Given the description of an element on the screen output the (x, y) to click on. 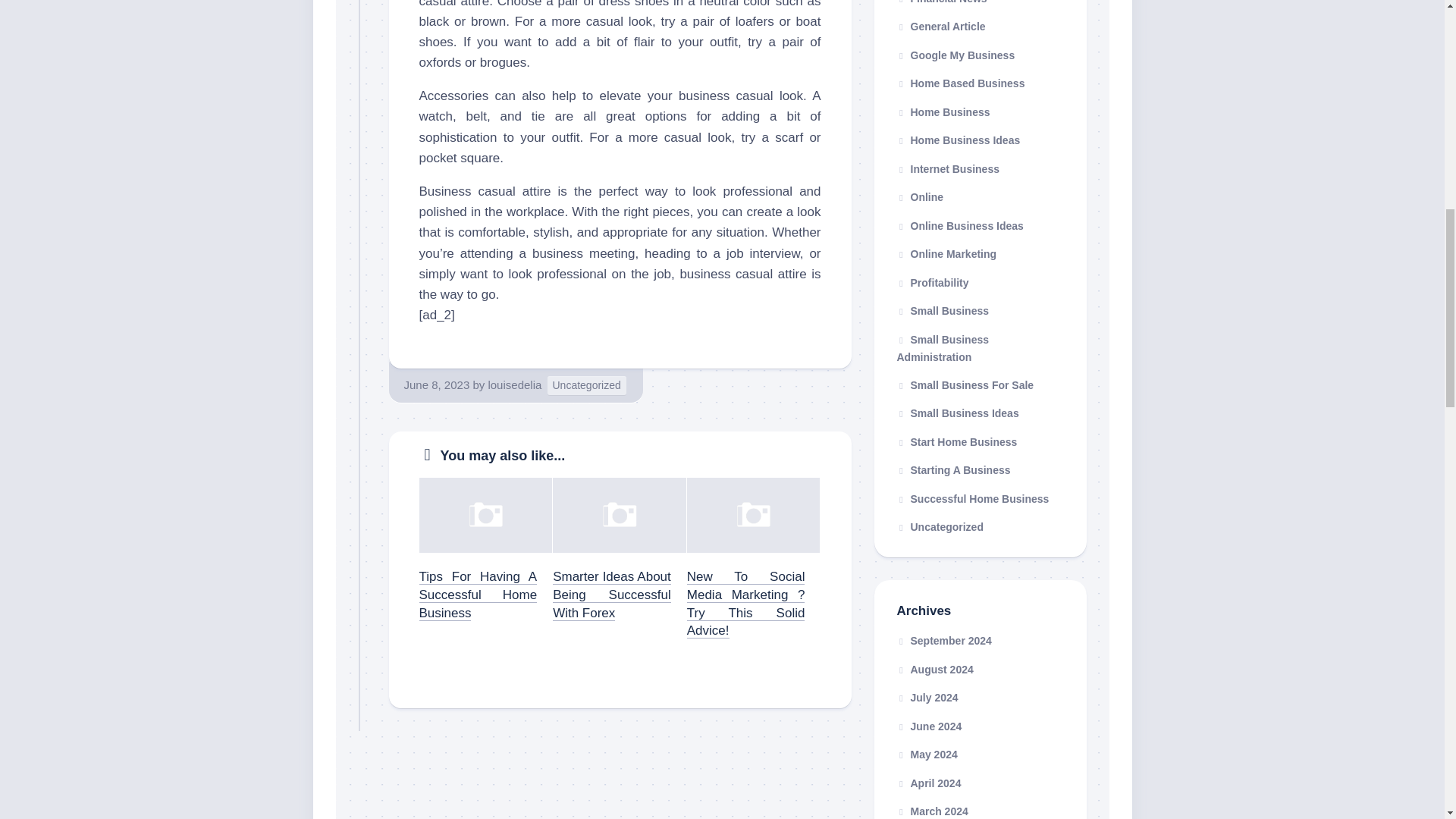
Smarter Ideas About Being Successful With Forex (612, 594)
Uncategorized (586, 384)
louisedelia (514, 384)
Posts by louisedelia (514, 384)
Tips For Having A Successful Home Business (478, 594)
